Given the description of an element on the screen output the (x, y) to click on. 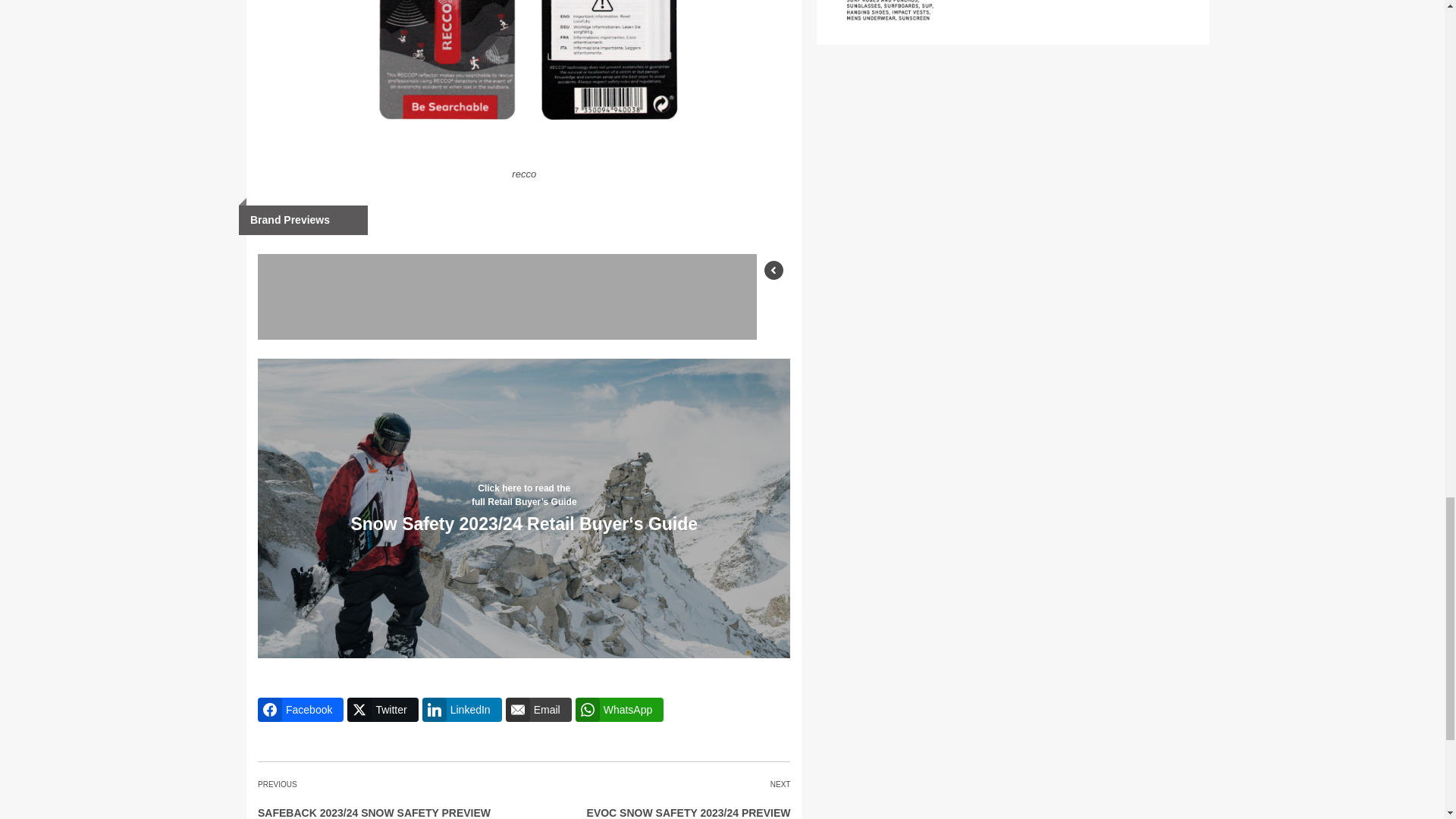
Share on Email (538, 709)
Share on Twitter (382, 709)
Twitter (382, 709)
Share on WhatsApp (619, 709)
Facebook (300, 709)
Share on LinkedIn (462, 709)
Share on Facebook (300, 709)
